Given the description of an element on the screen output the (x, y) to click on. 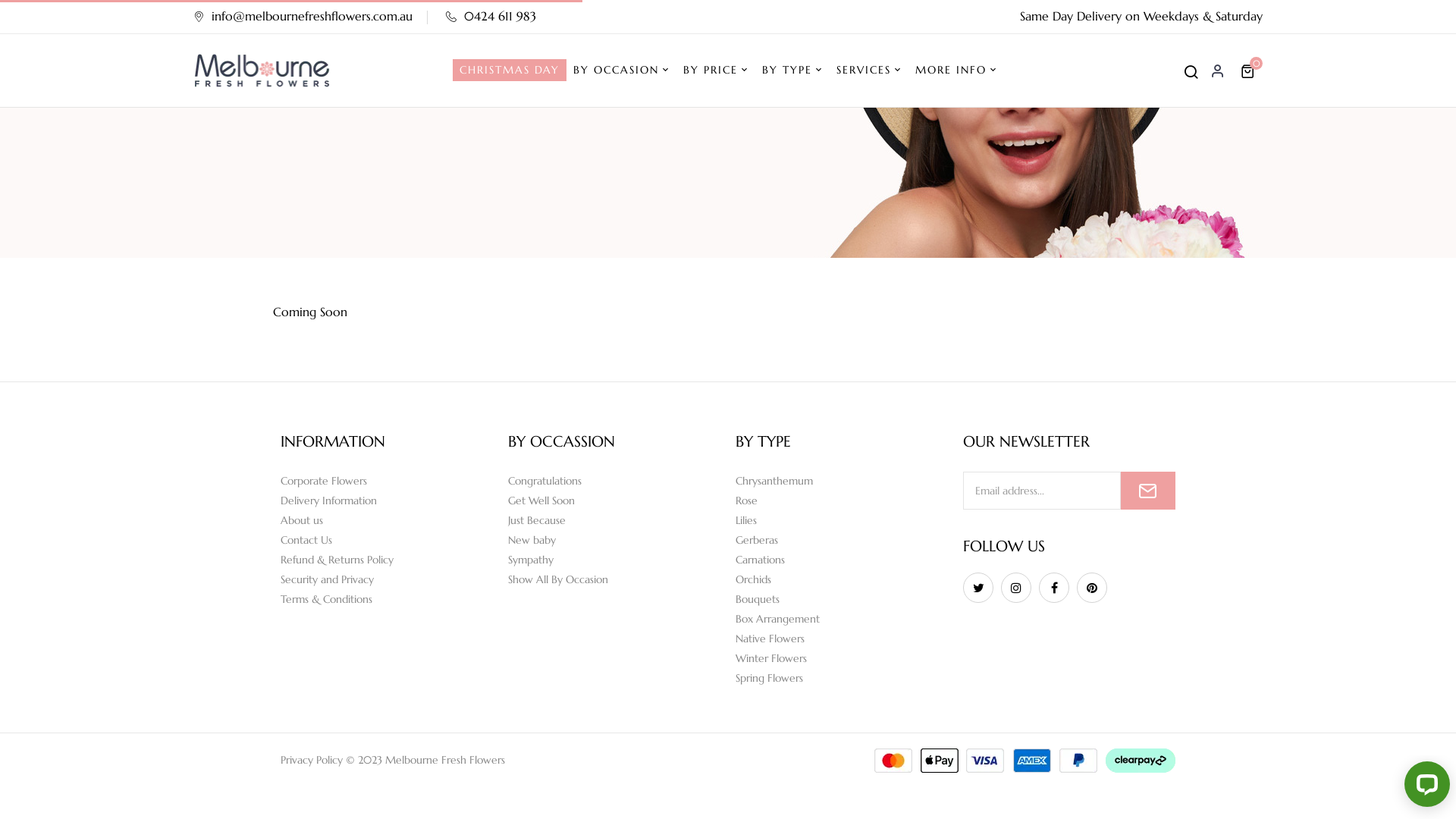
BY PRICE Element type: text (714, 70)
Gerberas Element type: text (841, 539)
MORE INFO Element type: text (955, 70)
Refund & Returns Policy Element type: text (386, 559)
Contact Us Element type: text (386, 539)
Bouquets Element type: text (841, 598)
Corporate Flowers Element type: text (386, 480)
Spring Flowers Element type: text (841, 677)
Native Flowers Element type: text (841, 638)
info@melbournefreshflowers.com.au Element type: text (302, 15)
Congratulations Element type: text (614, 480)
BY OCCASION Element type: text (621, 70)
Show All By Occasion Element type: text (614, 579)
BY TYPE Element type: text (791, 70)
Carnations Element type: text (841, 559)
Just Because Element type: text (614, 520)
Orchids Element type: text (841, 579)
Sympathy Element type: text (614, 559)
Delivery Information Element type: text (386, 500)
CHRISTMAS DAY Element type: text (509, 70)
Box Arrangement Element type: text (841, 618)
Get Well Soon Element type: text (614, 500)
0424 611 983 Element type: text (490, 15)
0 Element type: text (1249, 70)
Rose Element type: text (841, 500)
Chrysanthemum Element type: text (841, 480)
Security and Privacy Element type: text (386, 579)
New baby Element type: text (614, 539)
SERVICES Element type: text (867, 70)
About us Element type: text (386, 520)
SUBMIT Element type: text (1147, 490)
Lilies Element type: text (841, 520)
Winter Flowers Element type: text (841, 658)
Same Day Delivery on Weekdays & Saturday Element type: text (1140, 15)
Terms & Conditions Element type: text (386, 598)
